Given the description of an element on the screen output the (x, y) to click on. 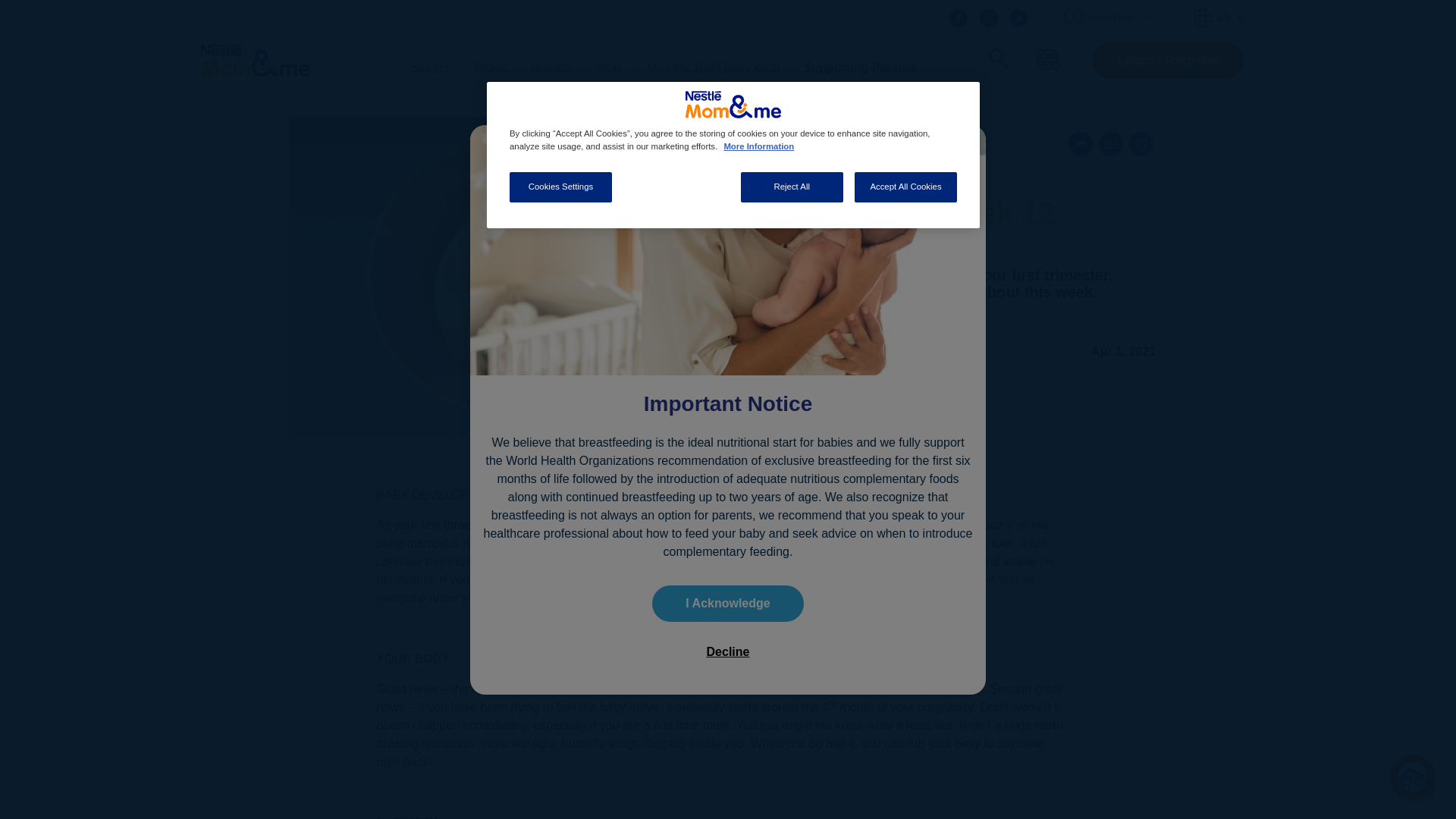
facebook (958, 18)
YouTube (1018, 18)
Need Help? (1119, 18)
Home (254, 60)
EN (1218, 18)
instagram (988, 18)
question icon (1073, 14)
